Given the description of an element on the screen output the (x, y) to click on. 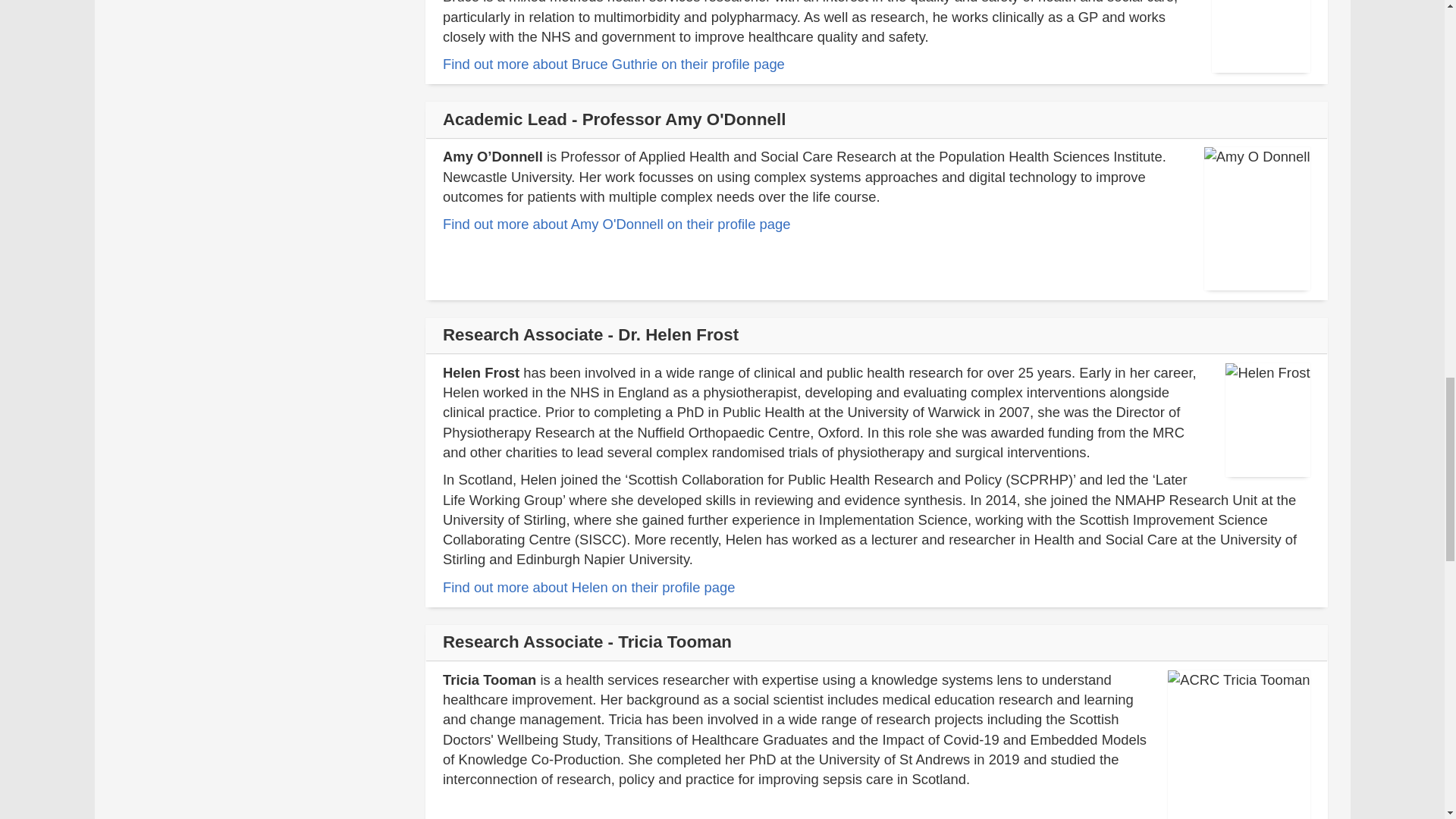
Find out more about Helen on their profile page (588, 587)
Find out more about Amy O'Donnell on their profile page (616, 223)
Bruce Guthrie (588, 587)
Bruce Guthrie (613, 64)
Find out more about Bruce Guthrie on their profile page (613, 64)
